Given the description of an element on the screen output the (x, y) to click on. 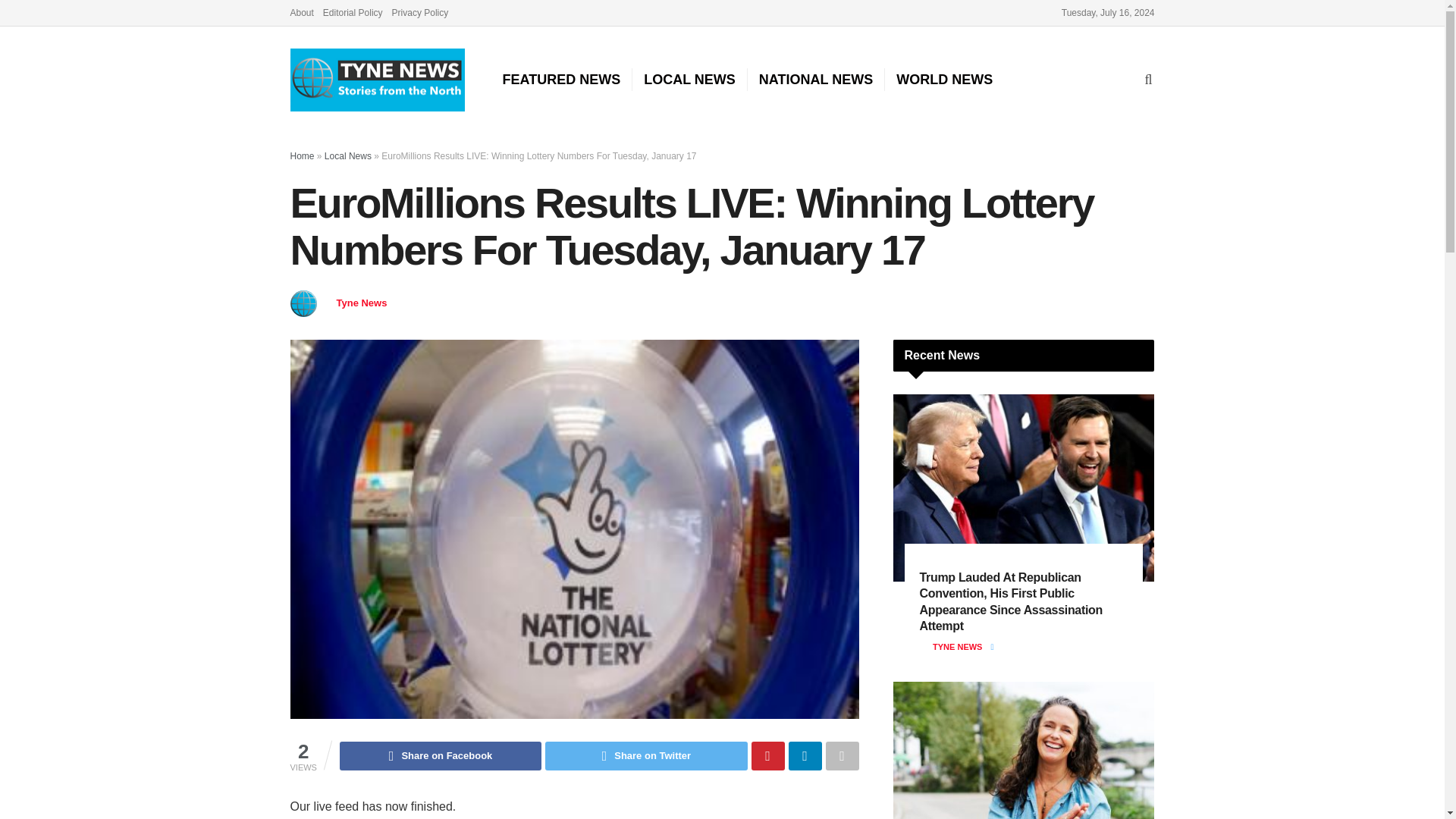
WORLD NEWS (944, 78)
NATIONAL NEWS (815, 78)
Tyne News (361, 302)
Editorial Policy (352, 12)
Local News (347, 155)
Share on Facebook (440, 756)
Local News (535, 302)
FEATURED NEWS (561, 78)
Home (301, 155)
Privacy Policy (419, 12)
January 18, 2023 (452, 302)
LOCAL NEWS (689, 78)
Share on Twitter (645, 756)
About (301, 12)
